Given the description of an element on the screen output the (x, y) to click on. 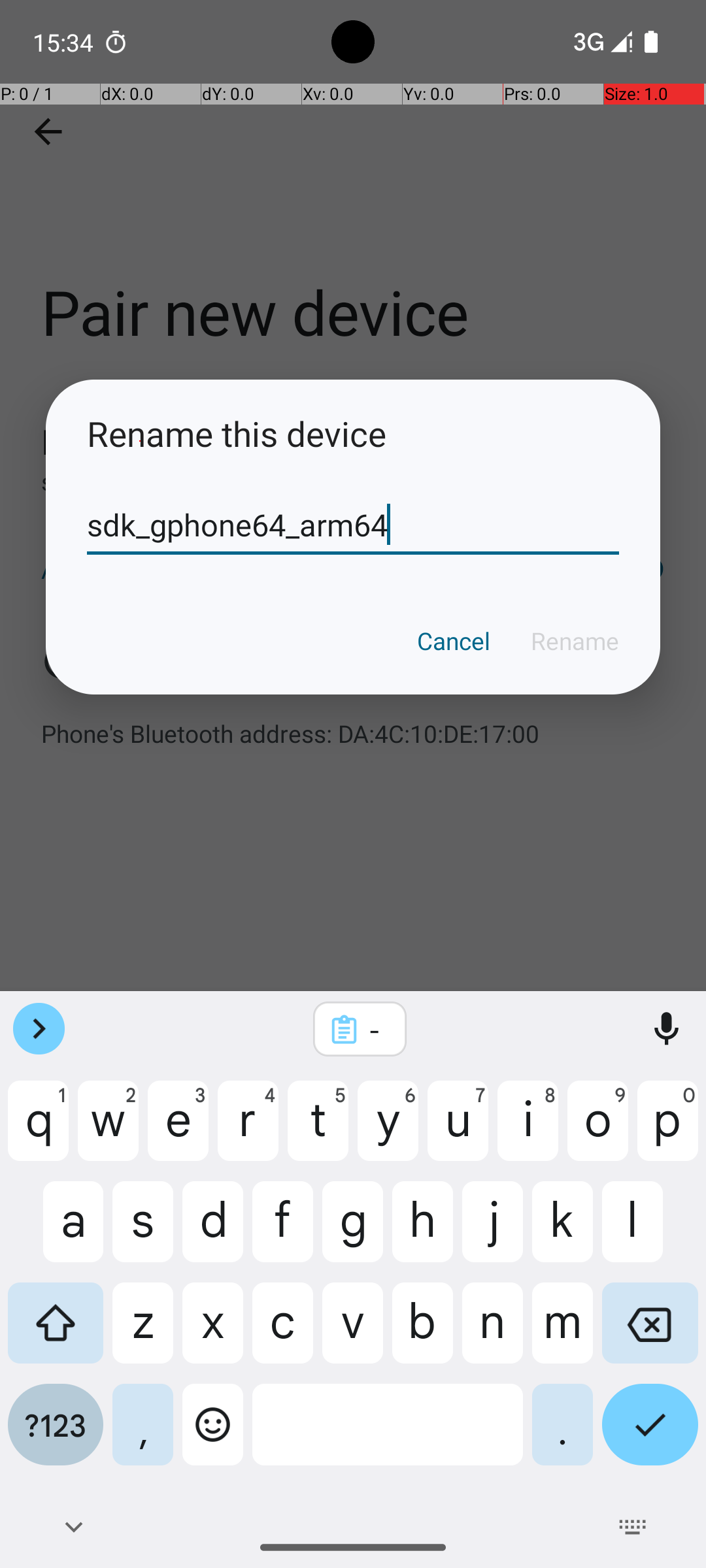
Rename this device Element type: android.widget.TextView (352, 433)
